Given the description of an element on the screen output the (x, y) to click on. 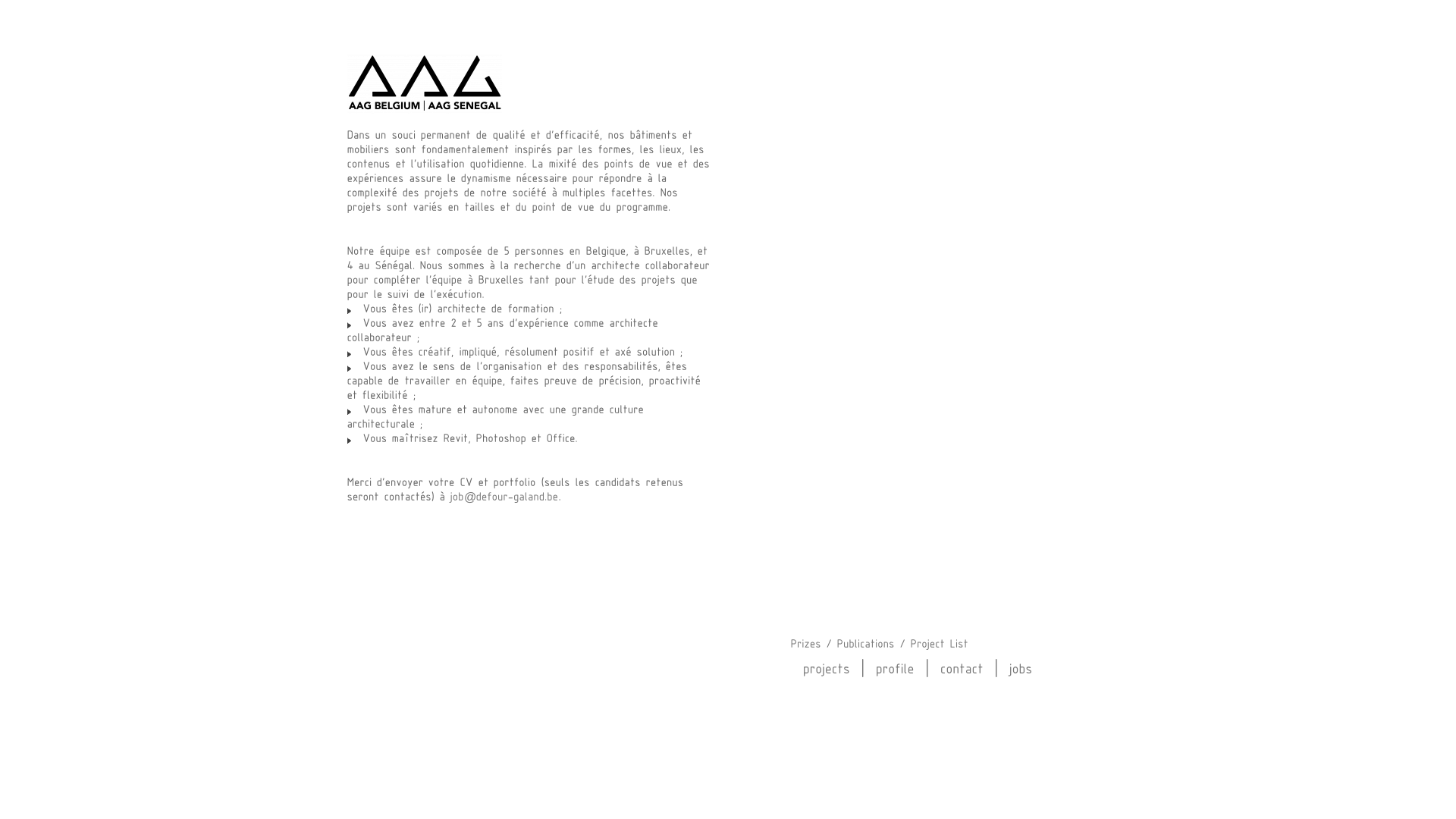
@ Element type: text (504, 496)
